Given the description of an element on the screen output the (x, y) to click on. 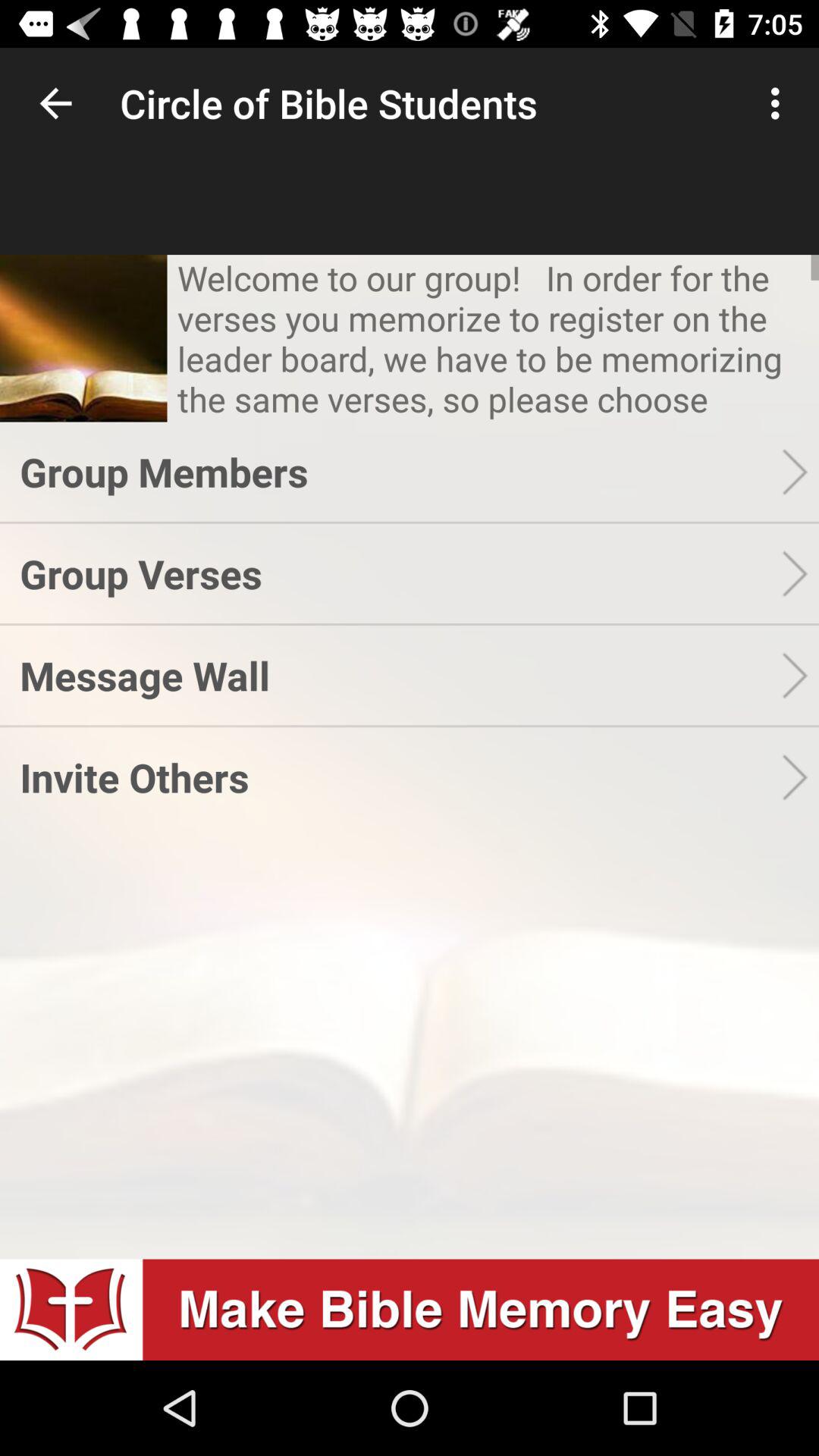
scroll to the group members icon (399, 471)
